Given the description of an element on the screen output the (x, y) to click on. 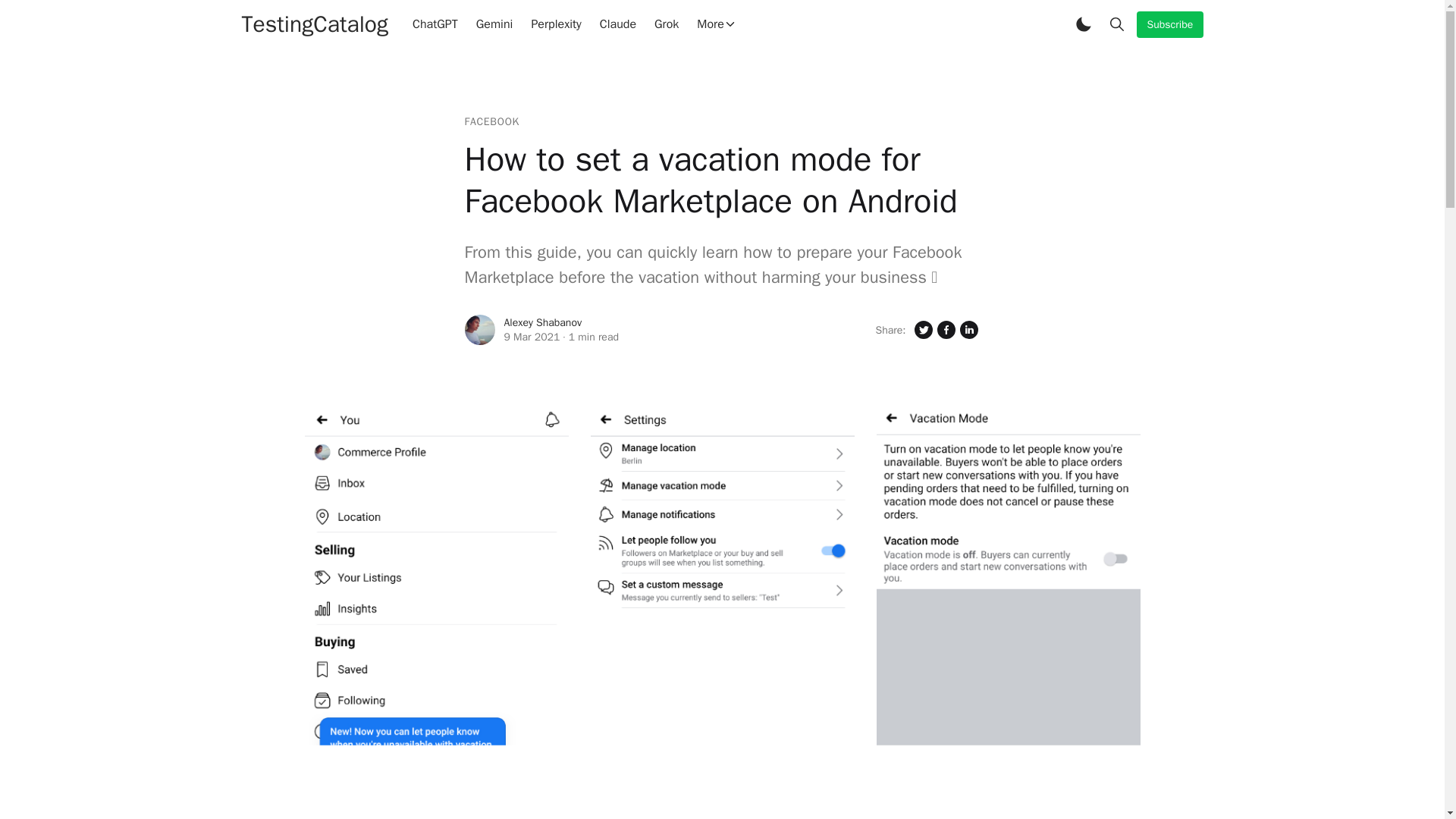
FACEBOOK (491, 121)
Go to the profile of Alexey Shabanov (479, 329)
Share on Twitter (922, 329)
Updated 19 Nov 2023 (531, 336)
Gemini (494, 24)
ChatGPT (435, 24)
Share on Facebook (945, 329)
Share on Linkedin (967, 329)
1 min read (593, 336)
Perplexity (555, 24)
